Given the description of an element on the screen output the (x, y) to click on. 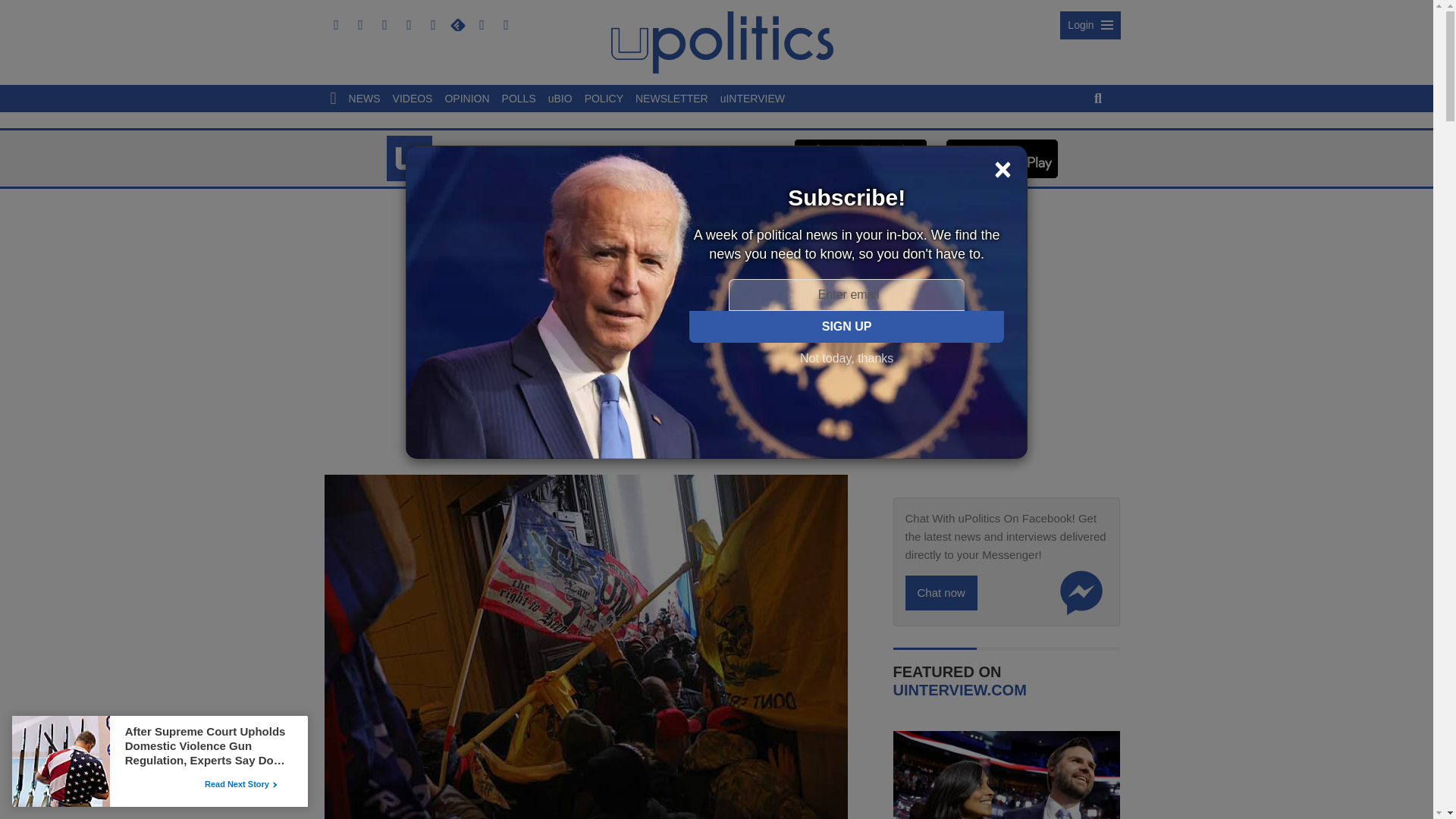
Not today, thanks (846, 358)
uBIO (559, 98)
NEWS (364, 98)
Sign Up (846, 327)
Enter email (846, 295)
POLICY (603, 98)
uINTERVIEW (752, 98)
Login (1089, 25)
POLLS (518, 98)
OPINION (466, 98)
NEWSLETTER (671, 98)
VIDEOS (413, 98)
